Given the description of an element on the screen output the (x, y) to click on. 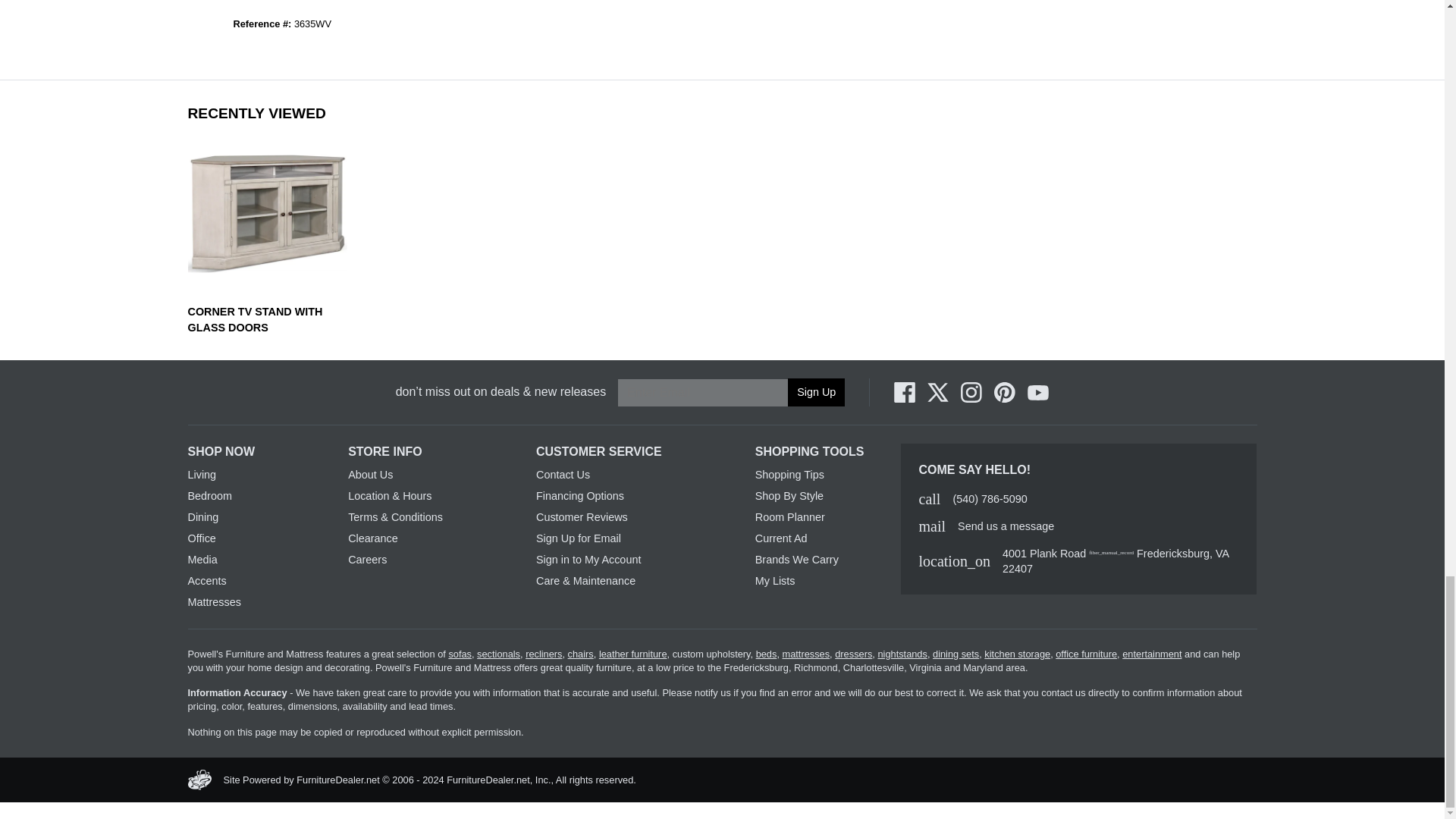
Sign Up (815, 392)
